Given the description of an element on the screen output the (x, y) to click on. 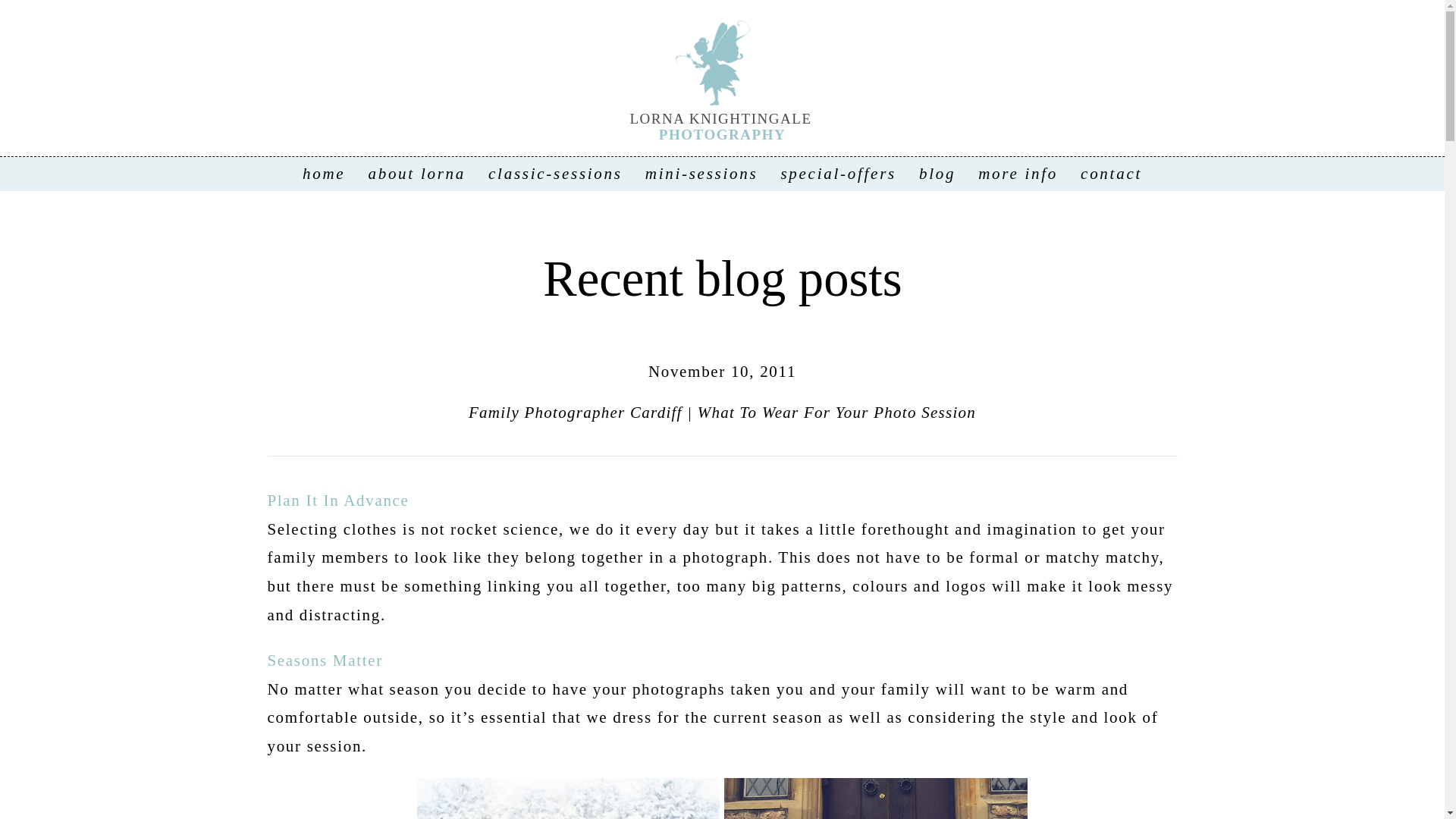
classic-sessions (555, 173)
about lorna (416, 173)
mini-sessions (701, 173)
home (323, 173)
